Given the description of an element on the screen output the (x, y) to click on. 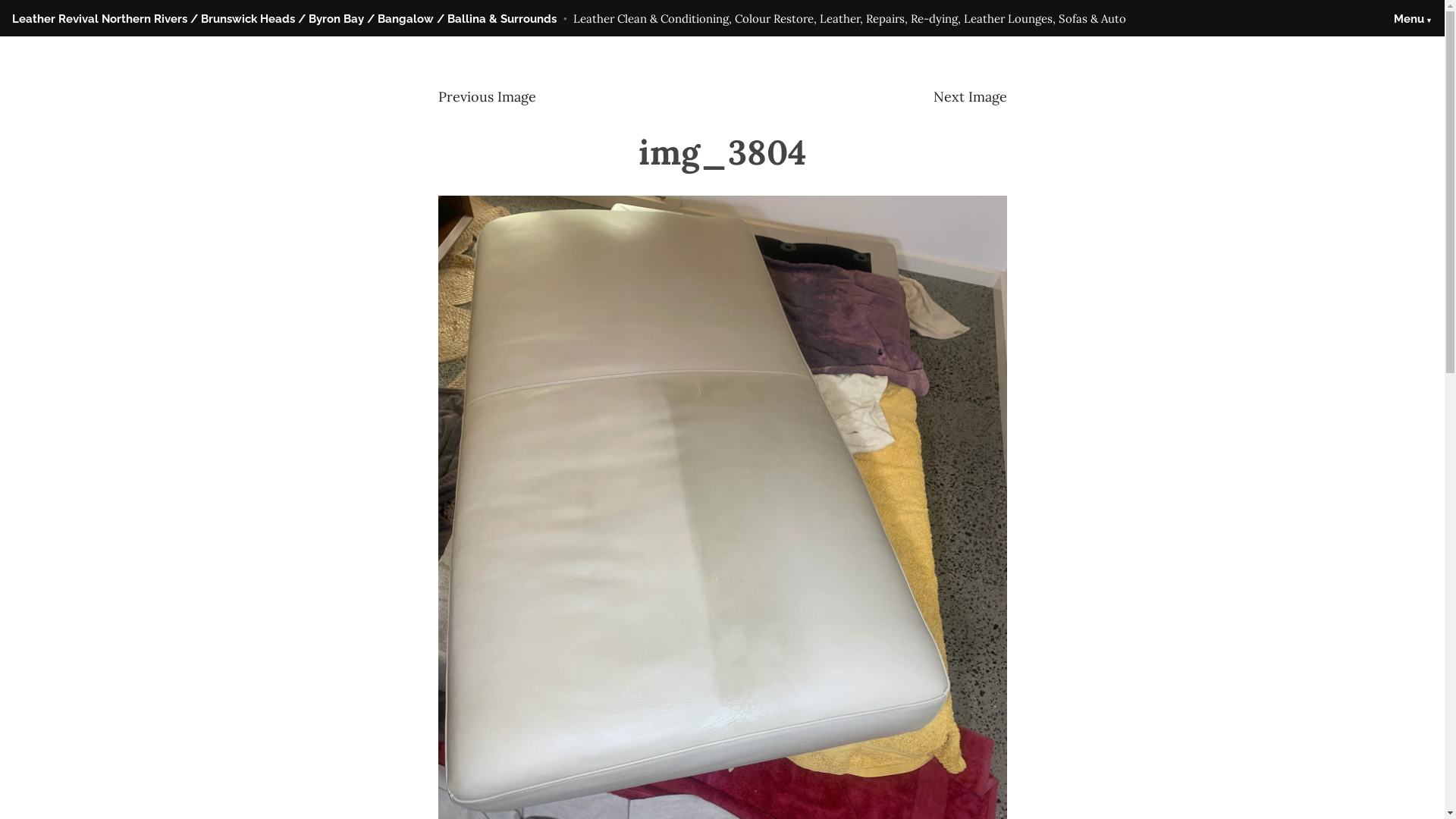
Next Image Element type: text (969, 96)
Previous Image Element type: text (487, 96)
Menu Element type: text (1412, 19)
